Given the description of an element on the screen output the (x, y) to click on. 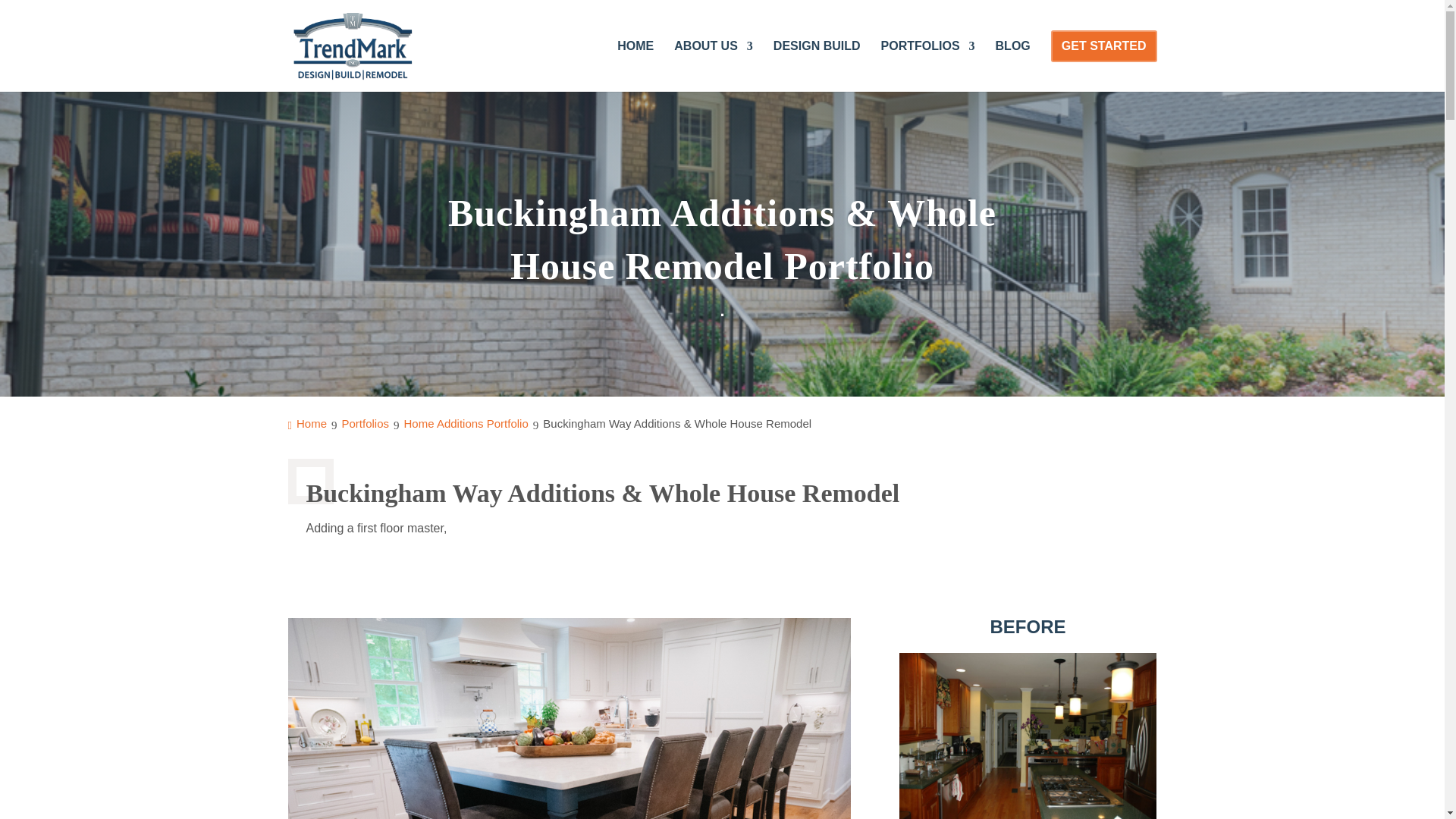
ABOUT US (713, 65)
Home (309, 422)
DESIGN BUILD (816, 65)
GET STARTED (1104, 46)
2020 Buckingham Addition-Whole House -10 (569, 718)
Home Additions Portfolio (468, 422)
PORTFOLIOS (927, 65)
Portfolios (366, 422)
